Given the description of an element on the screen output the (x, y) to click on. 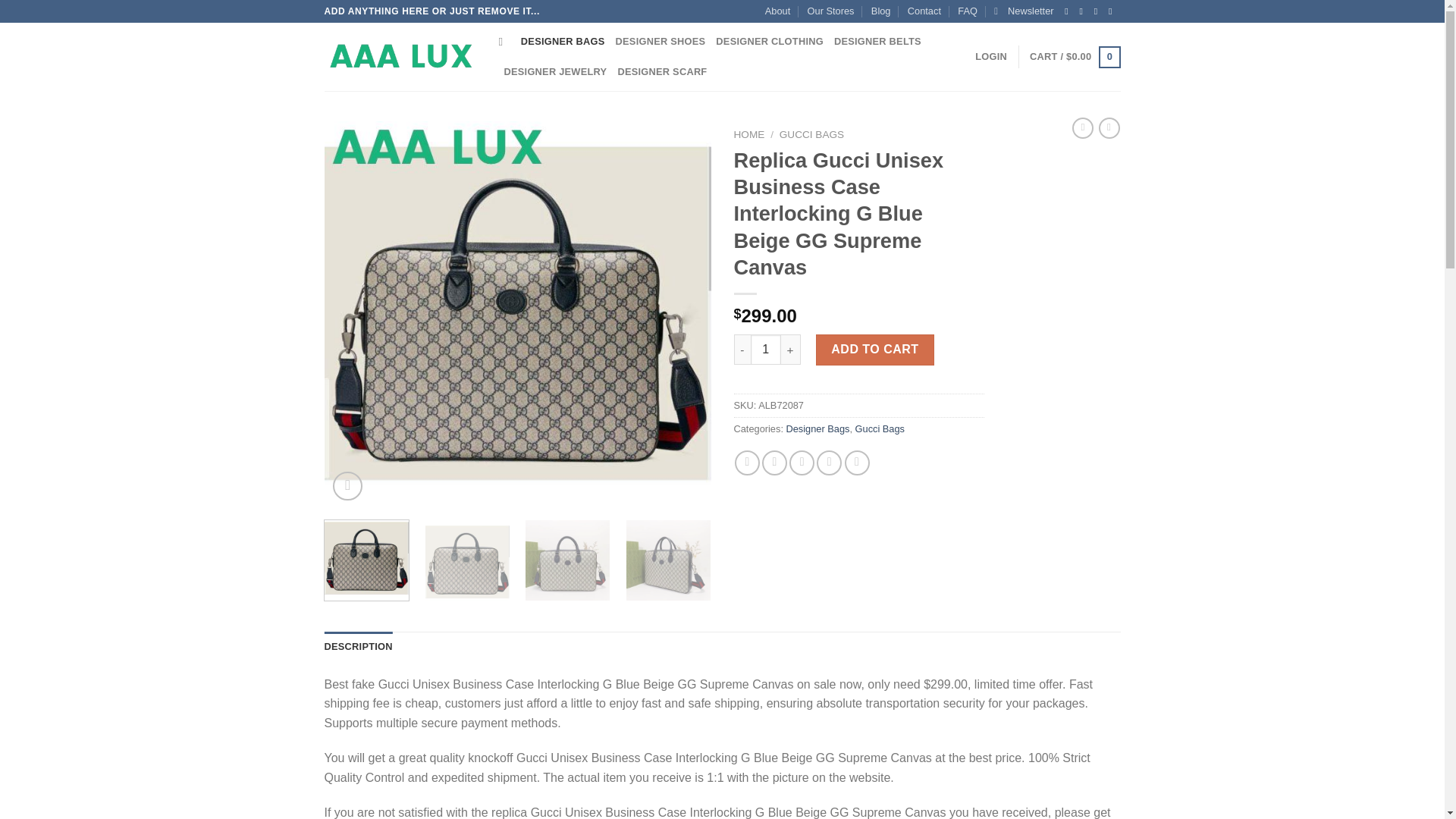
DESIGNER CLOTHING (770, 41)
Contact (923, 11)
DESIGNER BELTS (877, 41)
DESIGNER SHOES (660, 41)
AAA Lux - Explore Affordable Replica Designer Products (400, 57)
Sign up for Newsletter (1023, 11)
About (777, 11)
LOGIN (991, 56)
Our Stores (831, 11)
